Given the description of an element on the screen output the (x, y) to click on. 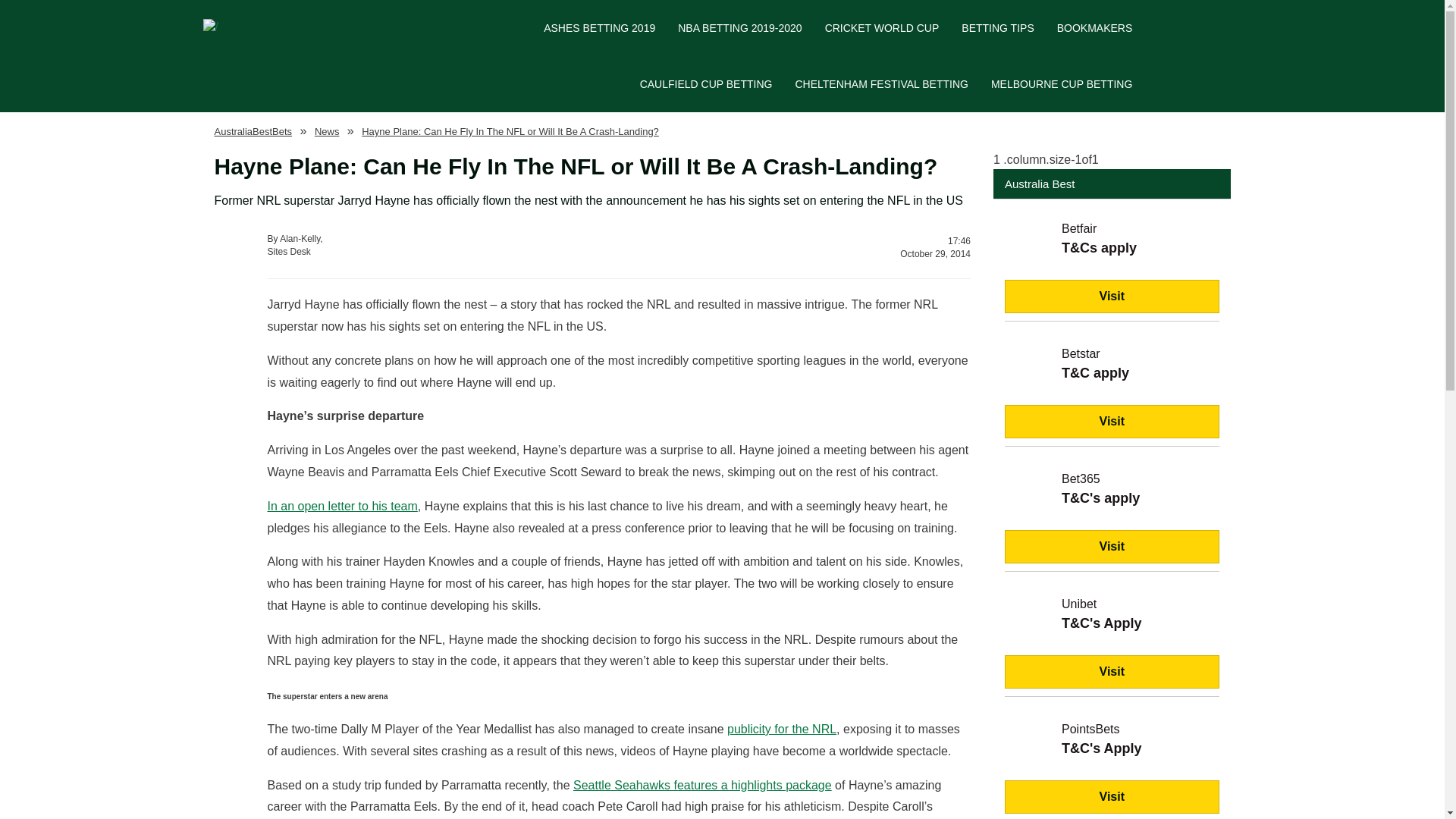
MELBOURNE CUP BETTING (1060, 83)
pointsbet logo (1029, 748)
NBA BETTING 2019-2020 (739, 28)
In an open letter to his team (436, 245)
BETTING TIPS (341, 505)
News (997, 28)
CAULFIELD CUP BETTING (326, 130)
